Given the description of an element on the screen output the (x, y) to click on. 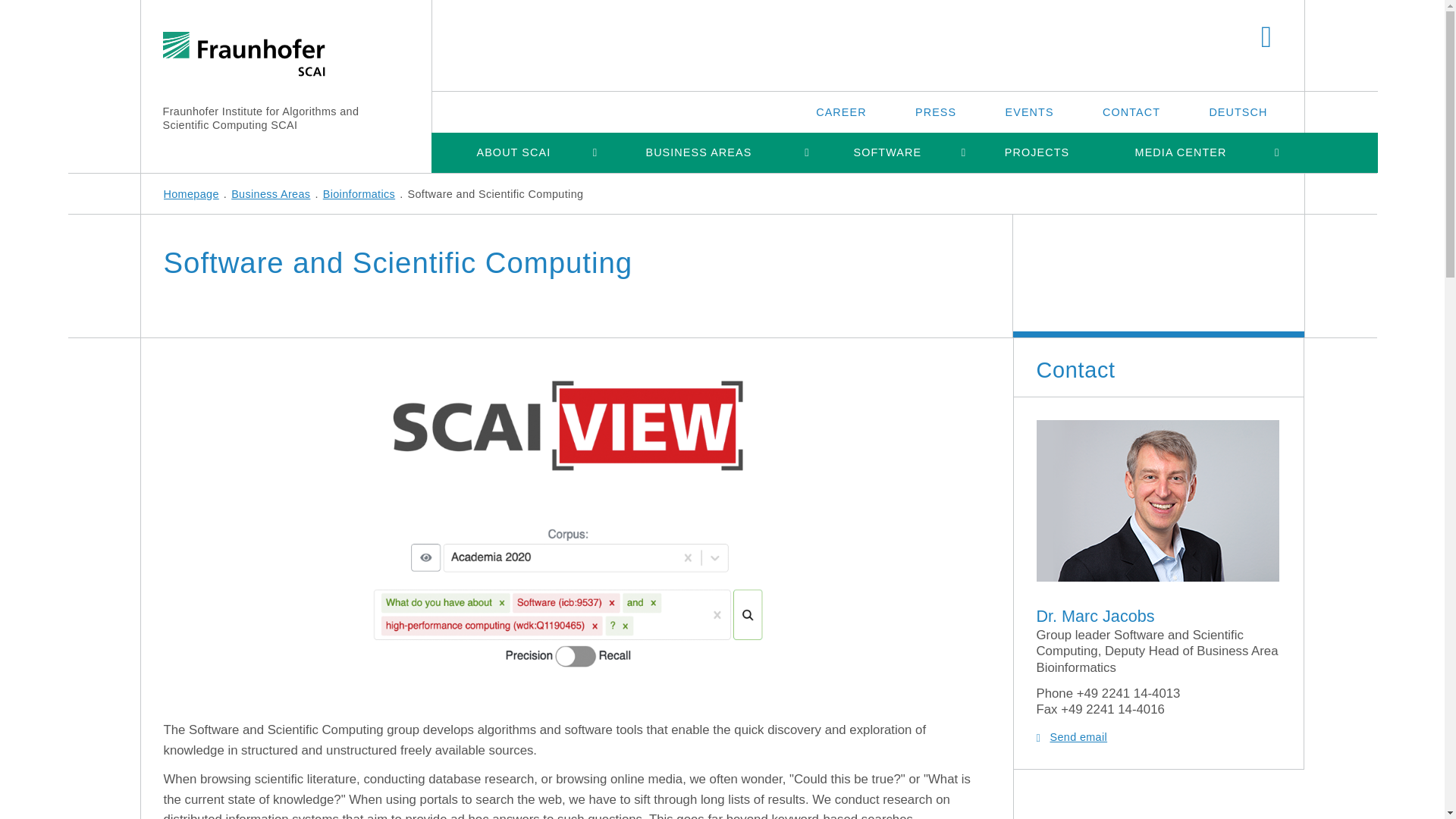
CONTACT (1131, 111)
CAREER (840, 111)
ABOUT SCAI (513, 151)
PRESS (935, 111)
SEARCH (1266, 37)
DEUTSCH (1238, 111)
EVENTS (1029, 111)
BUSINESS AREAS (698, 151)
